Given the description of an element on the screen output the (x, y) to click on. 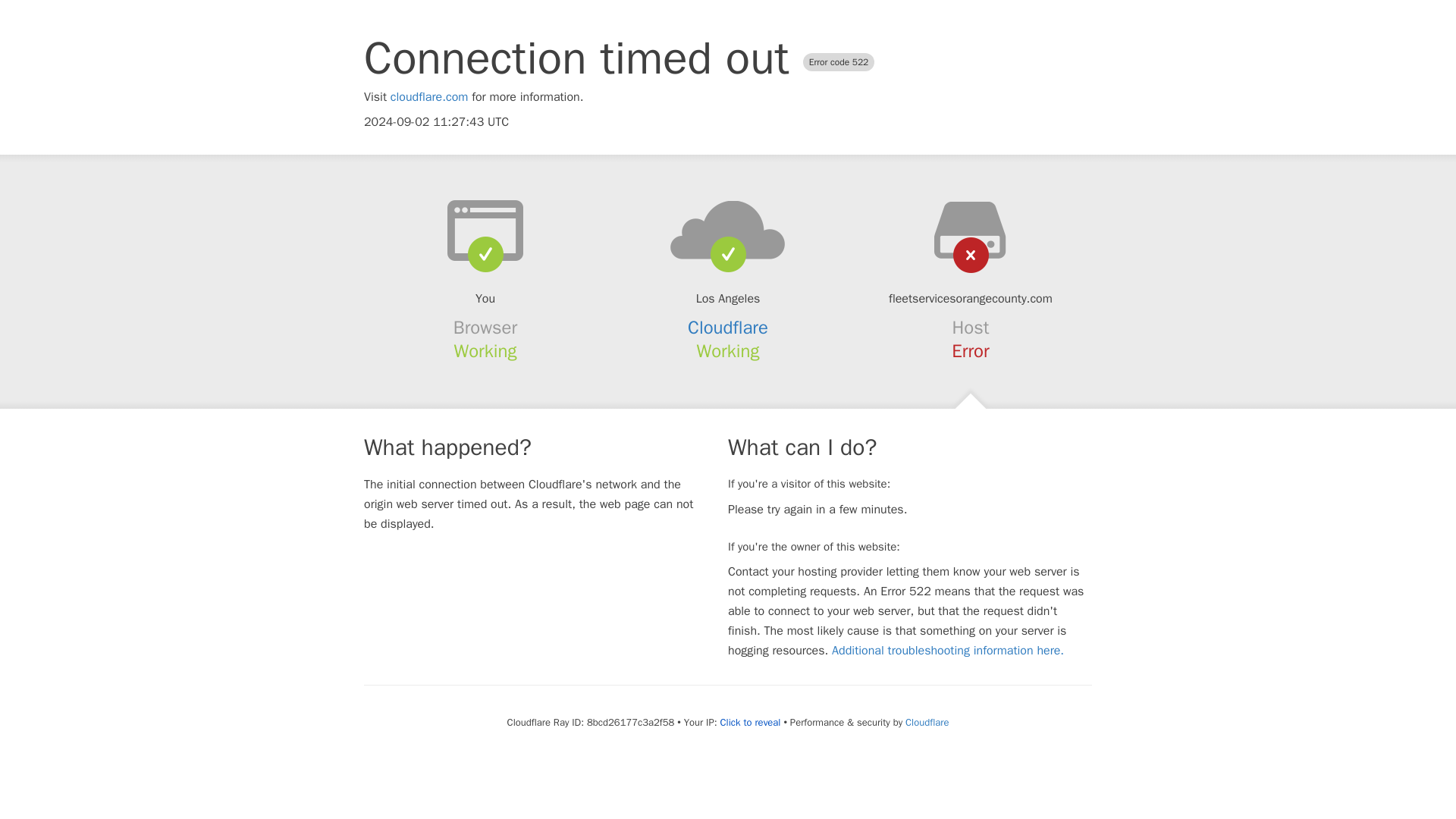
Cloudflare (927, 721)
Cloudflare (727, 327)
Additional troubleshooting information here. (947, 650)
cloudflare.com (429, 96)
Click to reveal (750, 722)
